Given the description of an element on the screen output the (x, y) to click on. 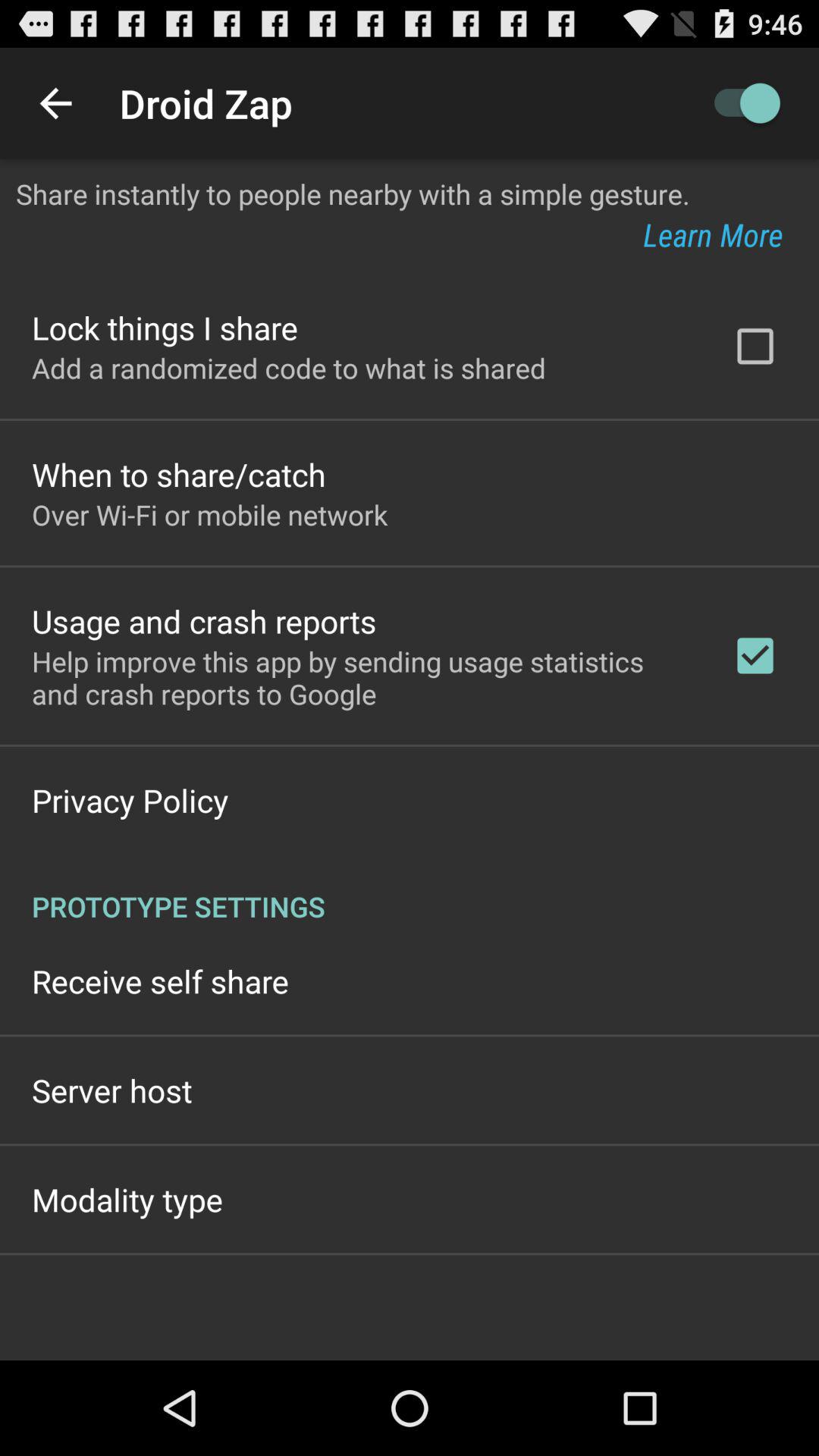
open item to the right of the droid zap (739, 103)
